Given the description of an element on the screen output the (x, y) to click on. 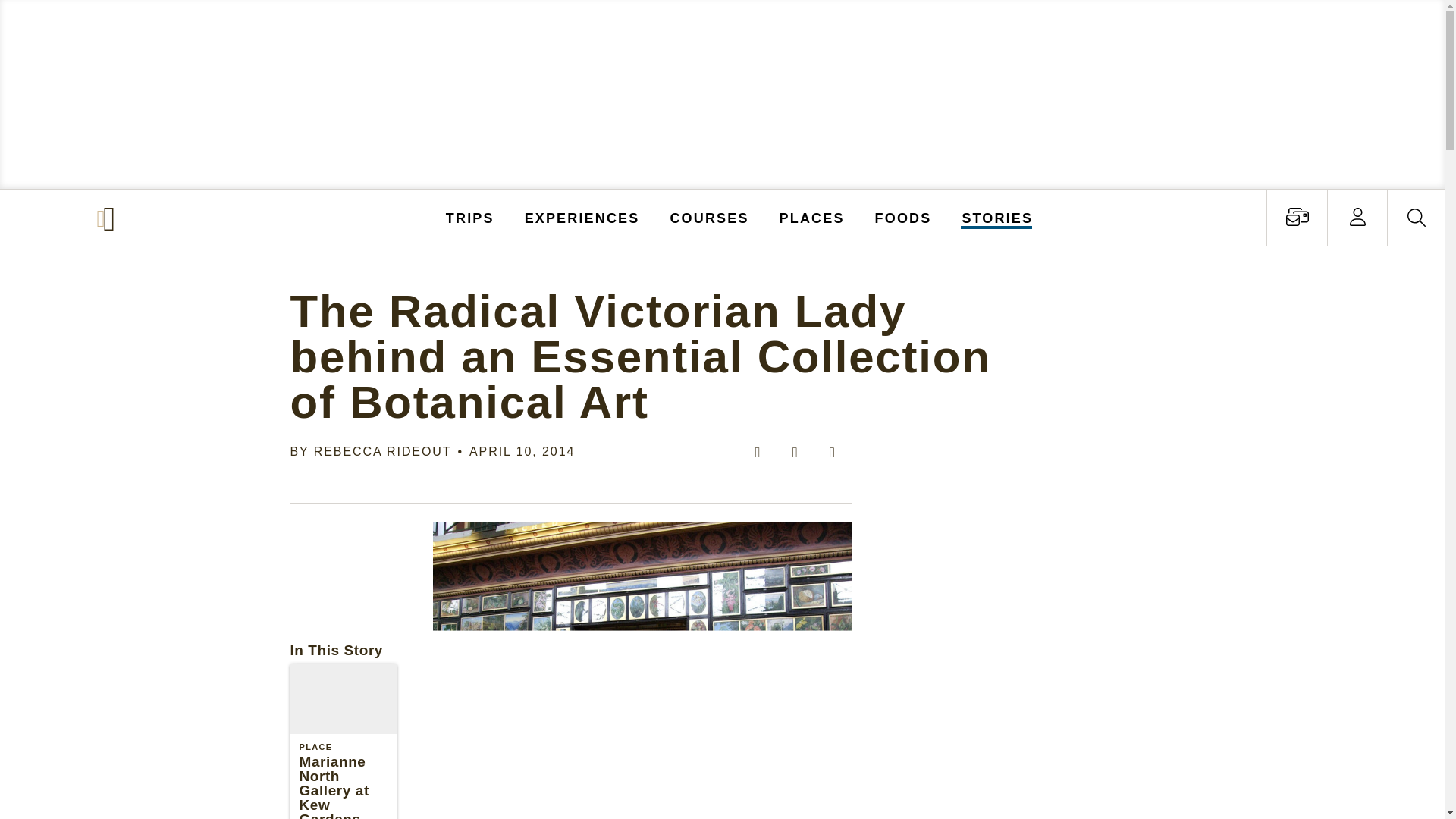
TRIPS (469, 217)
EXPERIENCES (582, 217)
COURSES (707, 217)
PLACES (812, 217)
